Given the description of an element on the screen output the (x, y) to click on. 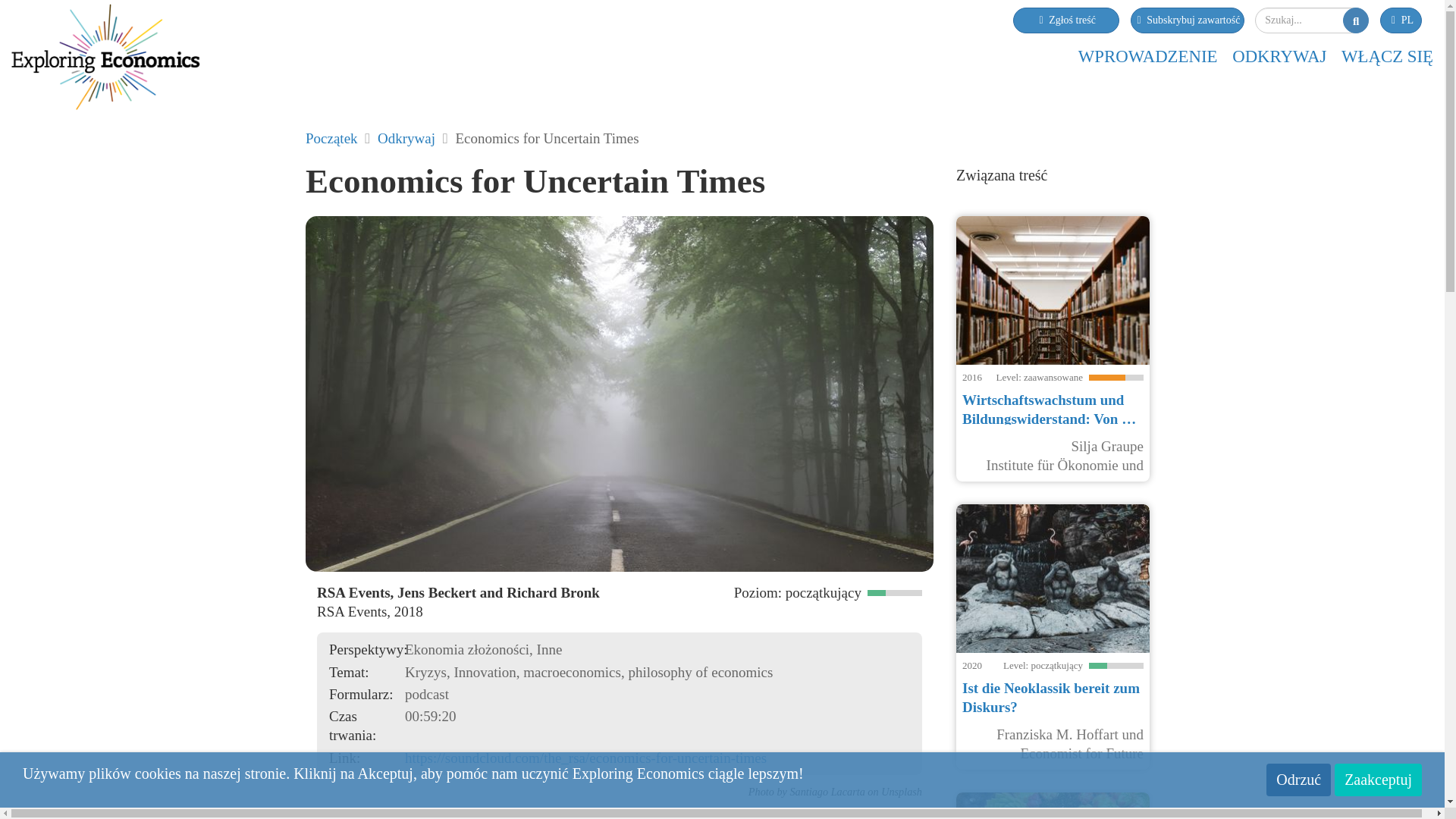
PL (1401, 20)
ODKRYWAJ (1278, 56)
WPROWADZENIE (1147, 56)
Odkrywaj (406, 138)
